Given the description of an element on the screen output the (x, y) to click on. 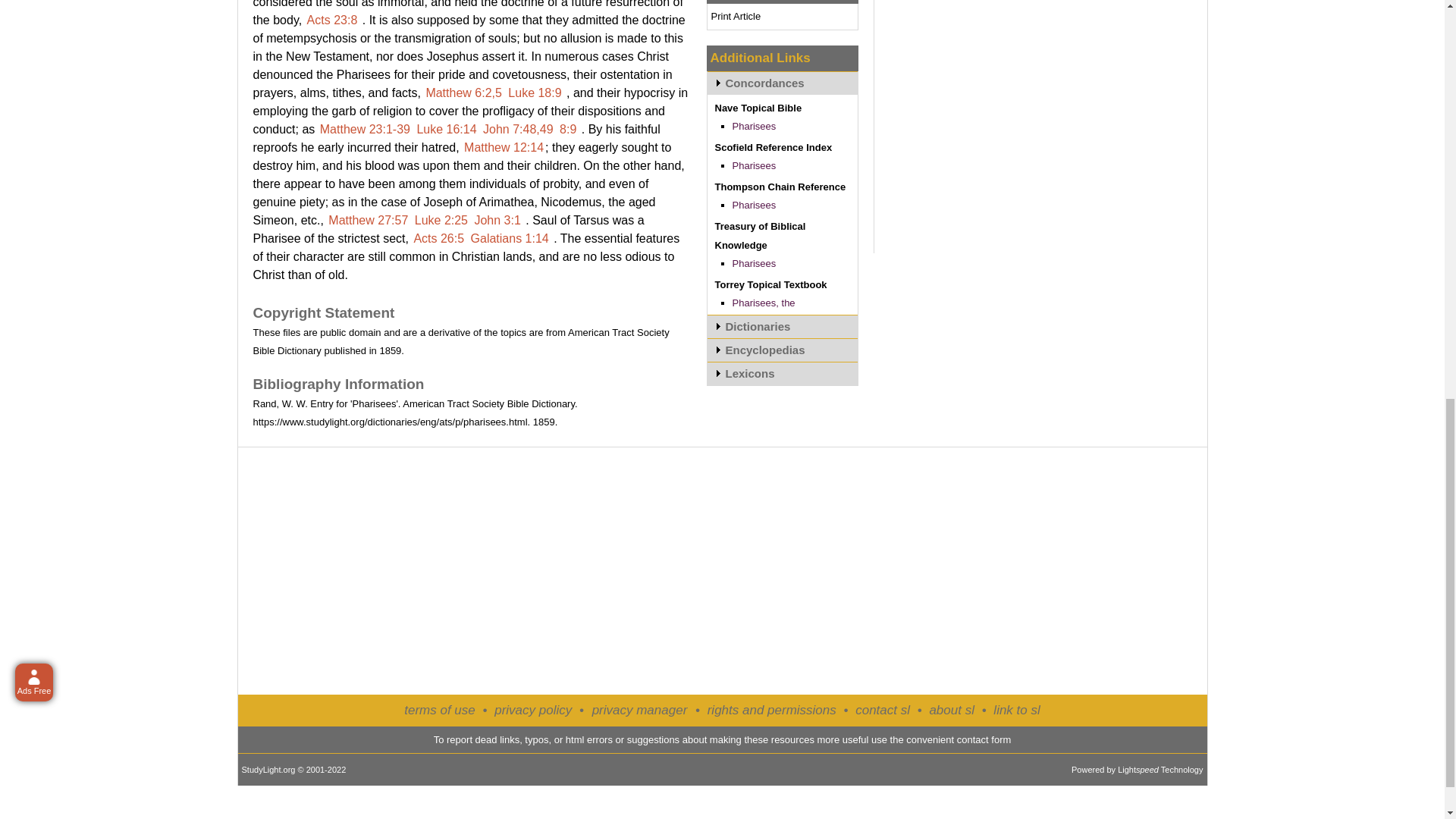
Pharisees (754, 125)
Concordances (781, 83)
Pharisees (754, 165)
Print Article (736, 16)
